Given the description of an element on the screen output the (x, y) to click on. 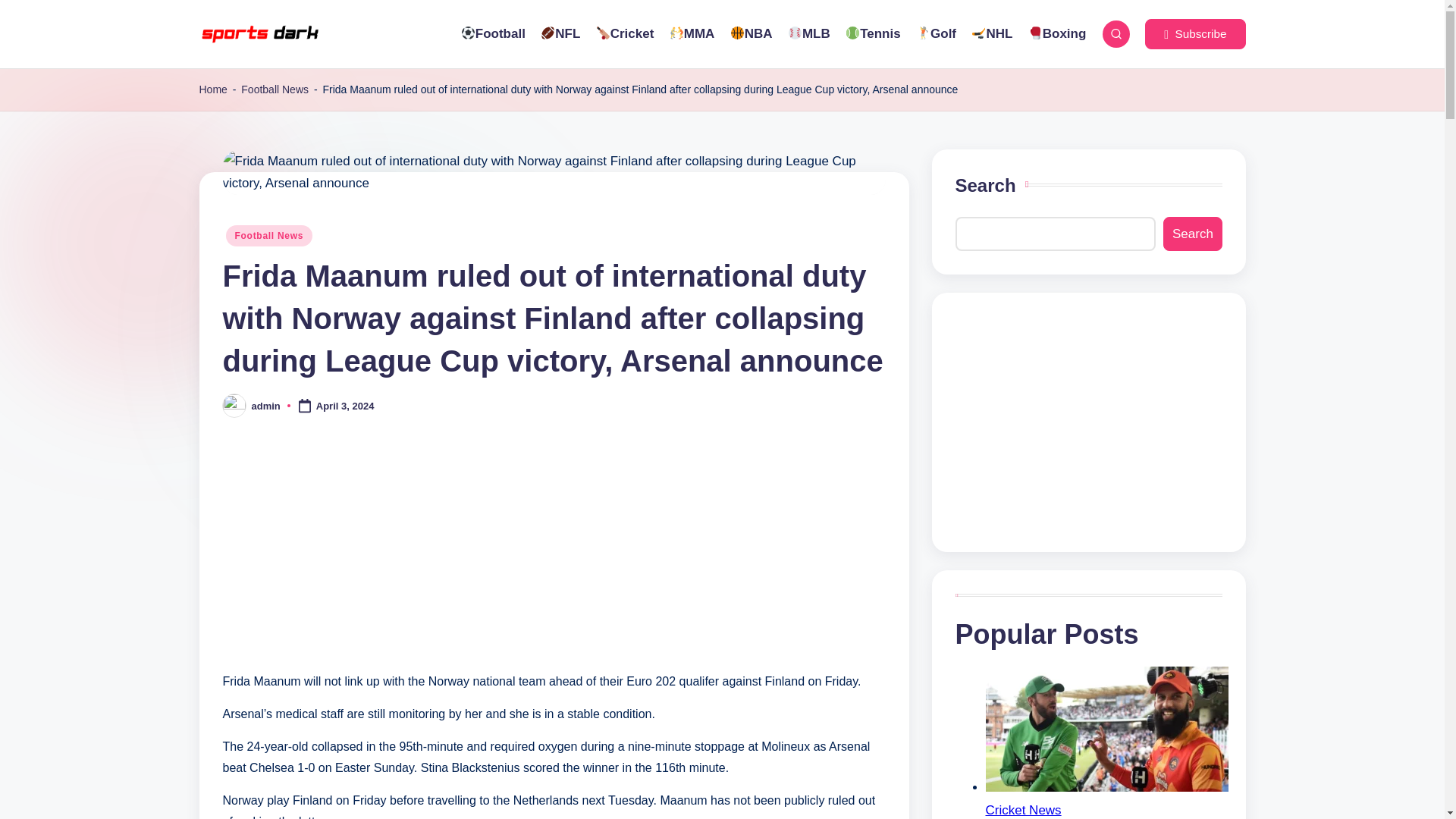
NFL (559, 33)
Boxing (1056, 33)
Tennis (873, 33)
View all posts by admin (266, 405)
Football (492, 33)
Golf (935, 33)
Cricket (624, 33)
admin (266, 405)
MMA (691, 33)
Football News (274, 89)
